Given the description of an element on the screen output the (x, y) to click on. 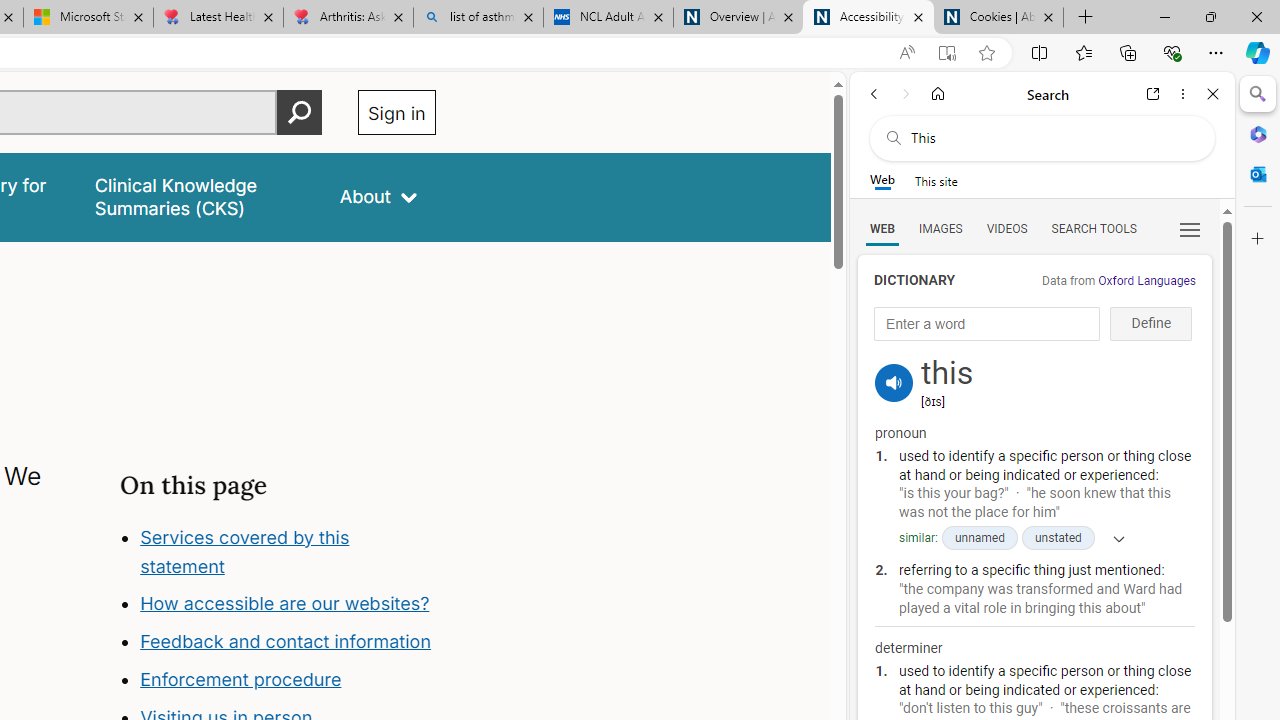
false (198, 196)
